Given the description of an element on the screen output the (x, y) to click on. 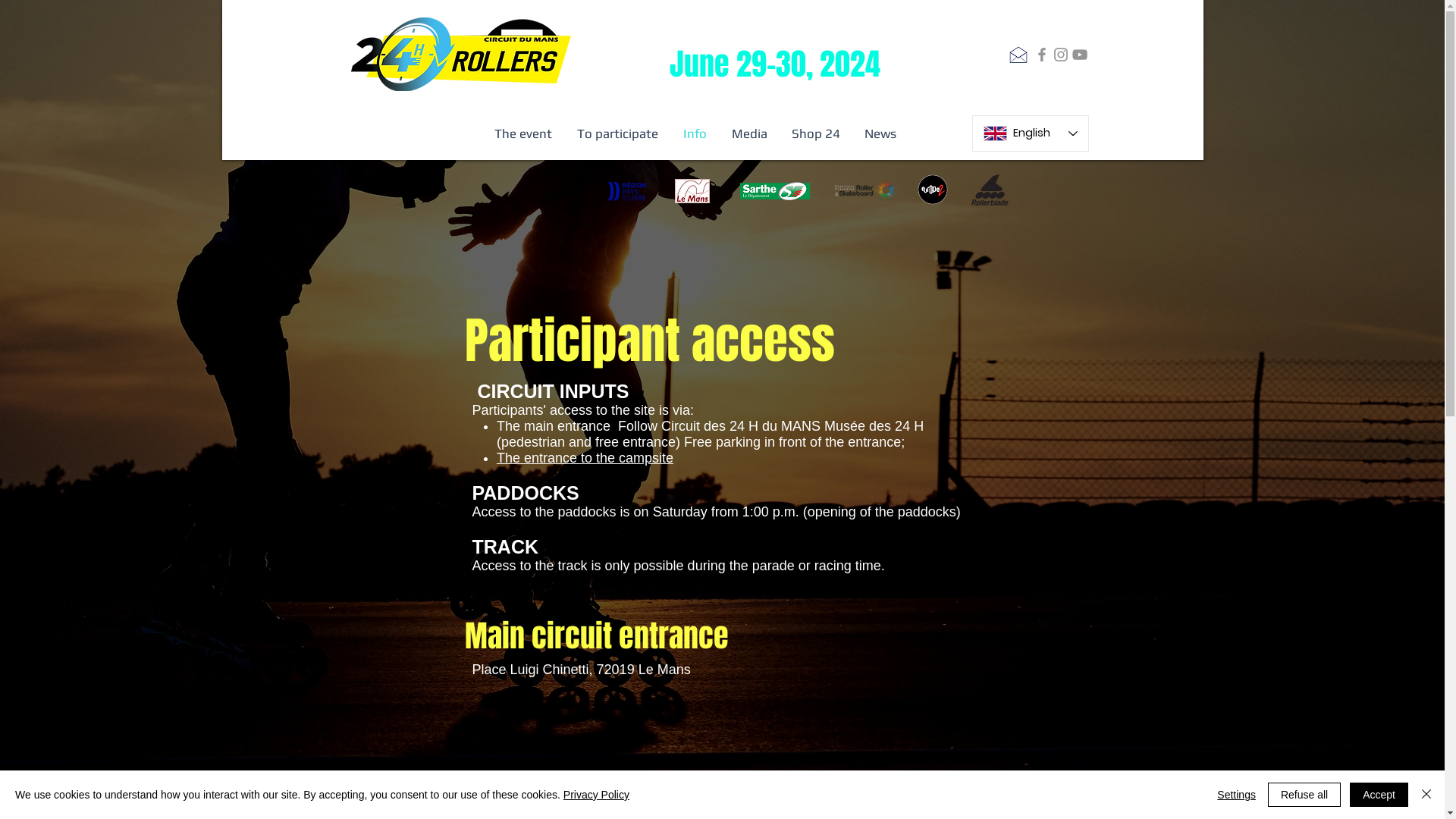
Shop 24 Element type: text (815, 133)
EF_logo.png Element type: hover (691, 190)
To participate Element type: text (618, 133)
Privacy Policy Element type: text (596, 794)
Media Element type: text (750, 133)
Refuse all Element type: text (1303, 794)
Accept Element type: text (1378, 794)
The entrance to the campsite Element type: text (584, 457)
Info Element type: text (695, 133)
News Element type: text (880, 133)
The event Element type: text (523, 133)
